Given the description of an element on the screen output the (x, y) to click on. 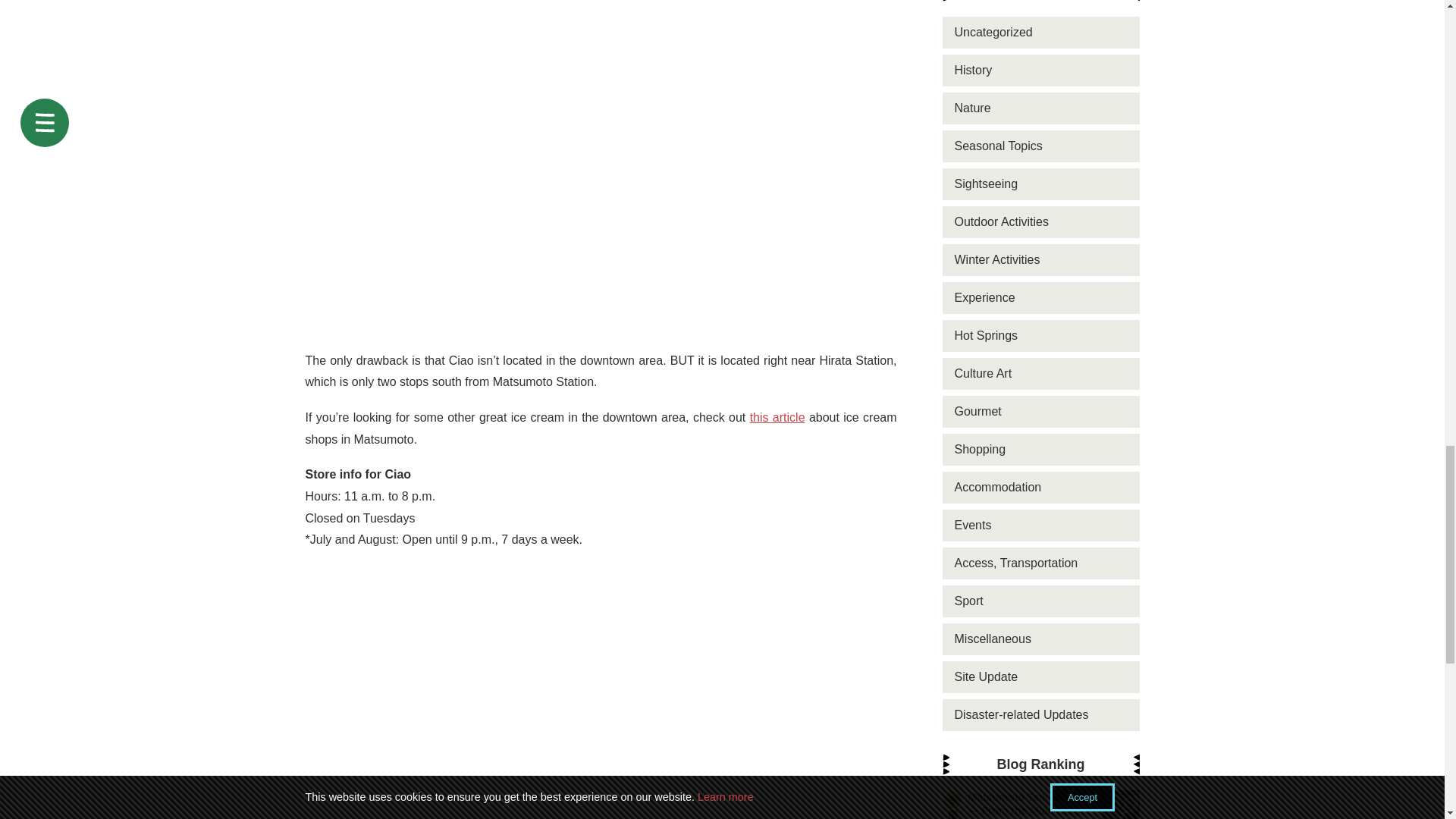
this article (777, 417)
